Given the description of an element on the screen output the (x, y) to click on. 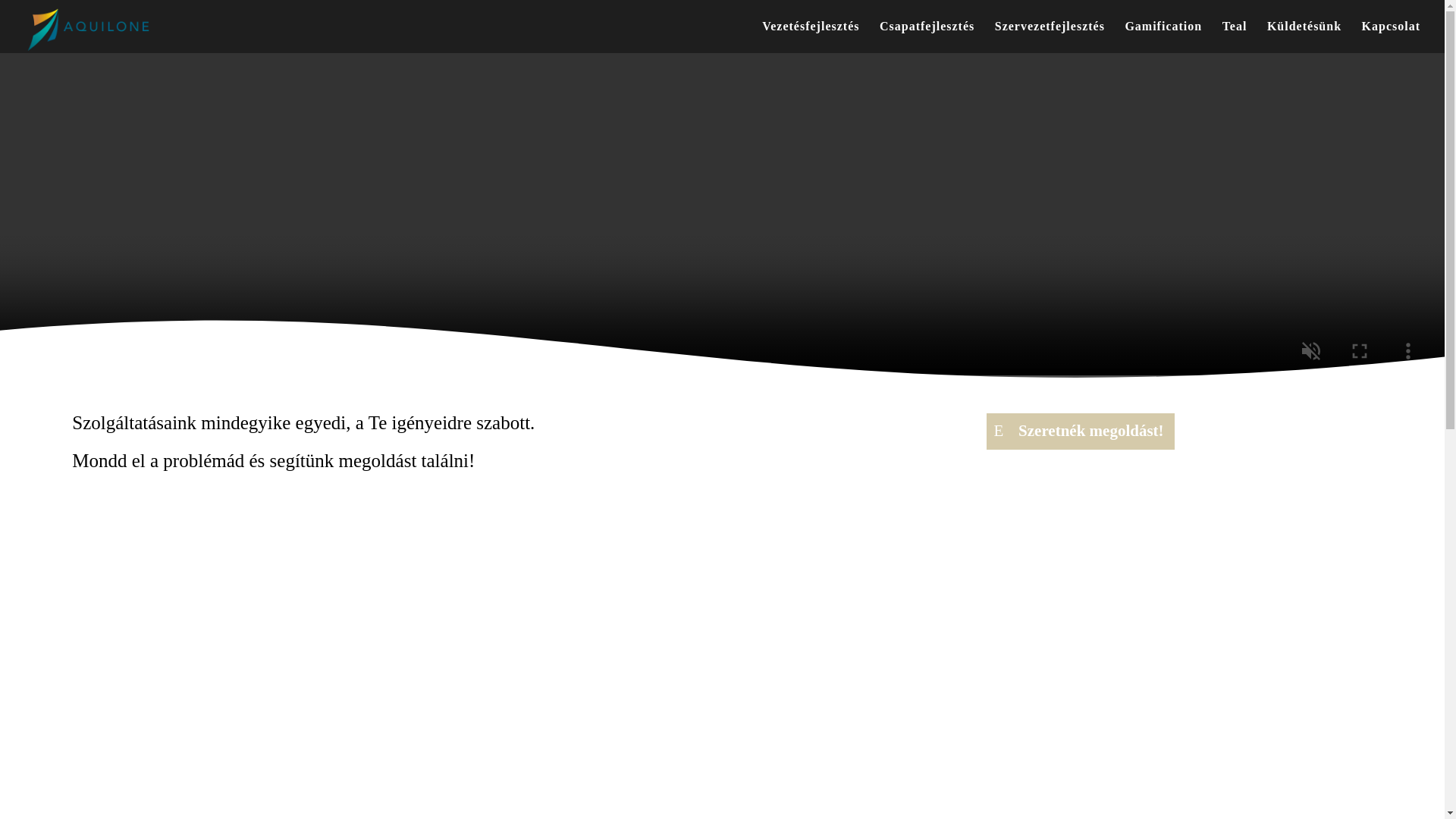
Gamification (1163, 37)
Kapcsolat (1391, 37)
